Given the description of an element on the screen output the (x, y) to click on. 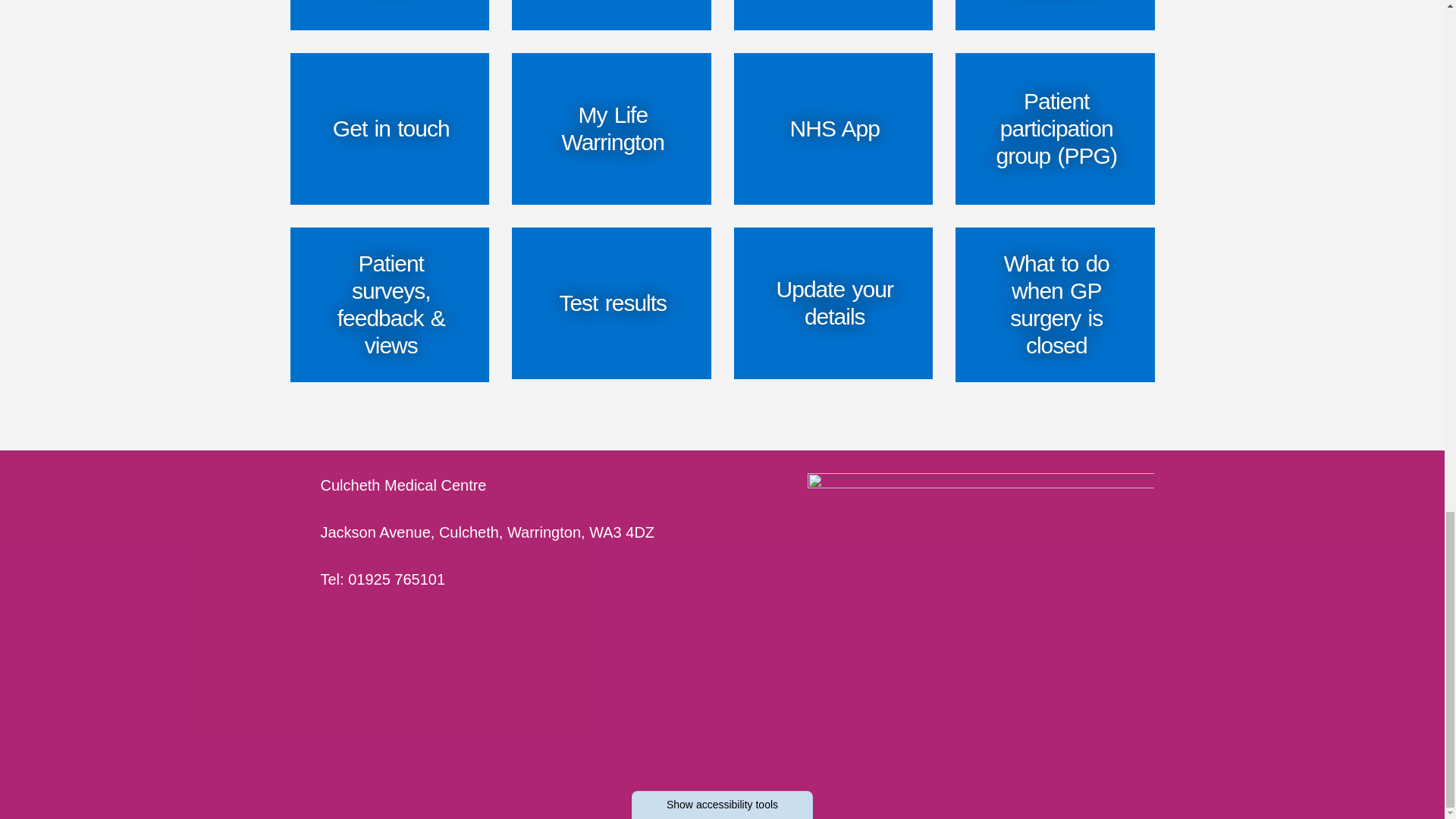
NHS App (833, 128)
Get in touch (389, 128)
Test results (611, 303)
My Life Warrington (611, 128)
Access your medical record online (389, 15)
What to do when GP surgery is closed (1054, 304)
Carers (611, 15)
Frequently Asked Questions (1054, 15)
Friends and Family Test (833, 15)
Update your details (833, 303)
